Given the description of an element on the screen output the (x, y) to click on. 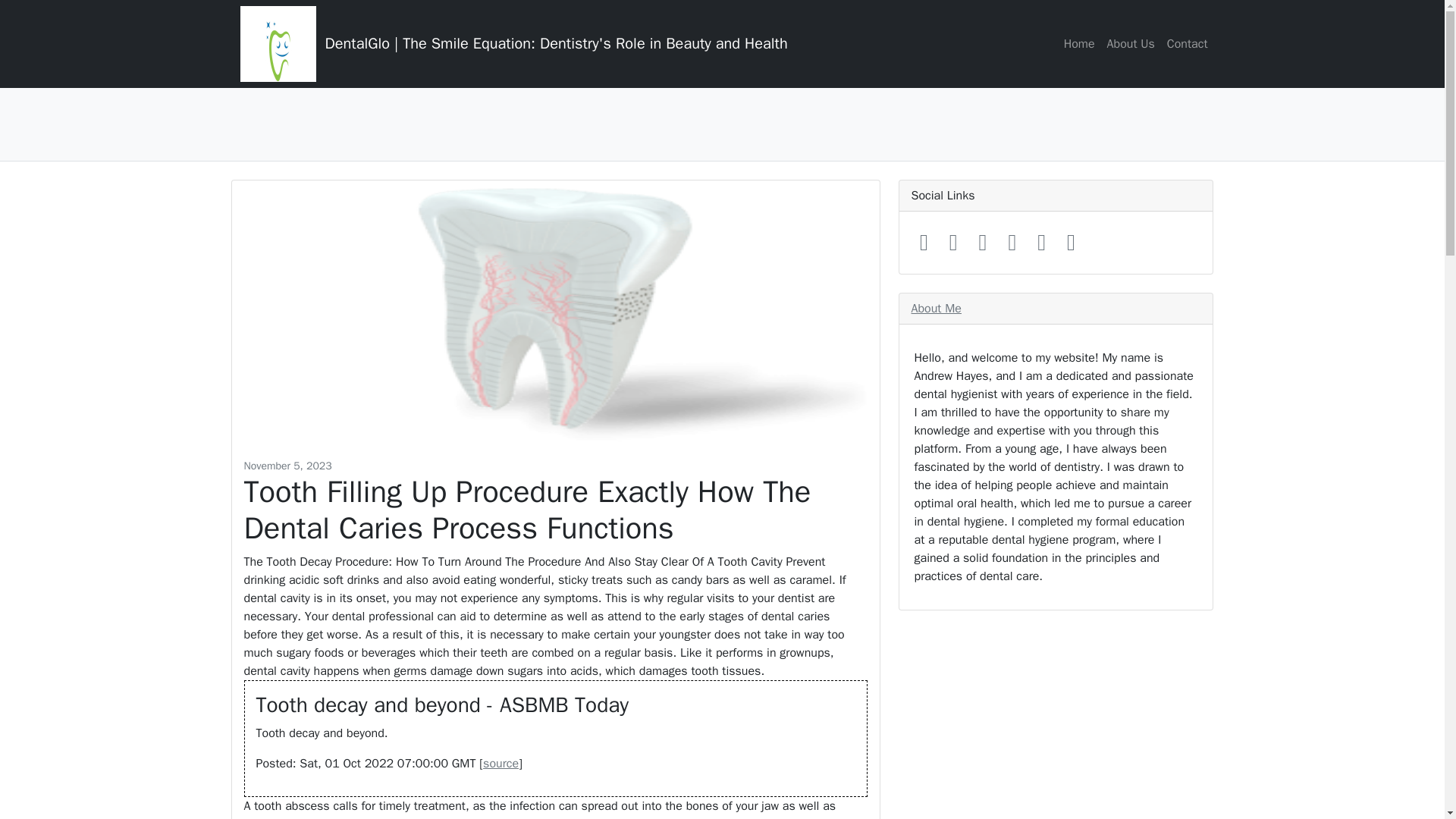
source (500, 763)
Home (1079, 43)
About Me (935, 308)
About Us (1130, 43)
Contact (1187, 43)
